Given the description of an element on the screen output the (x, y) to click on. 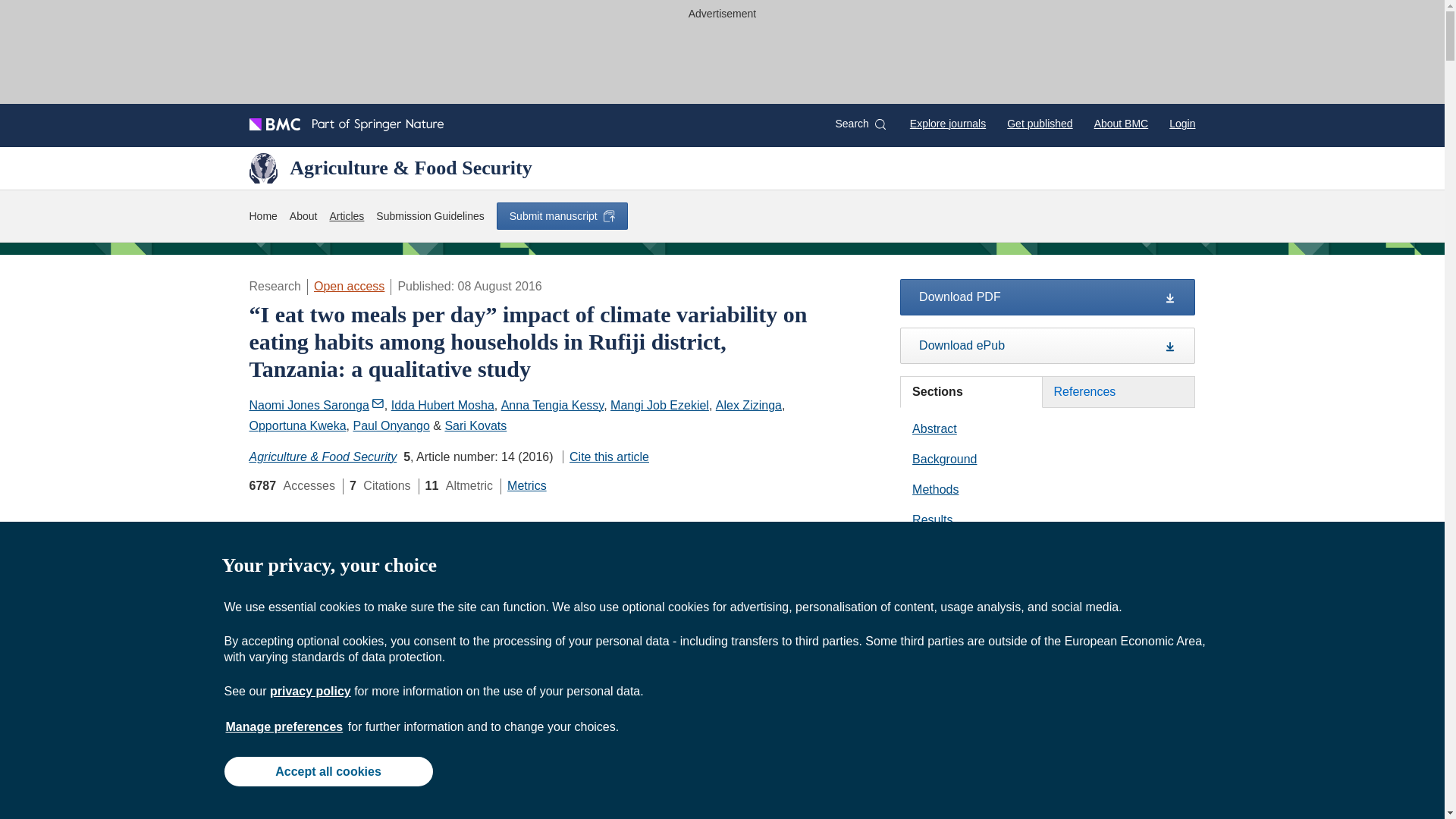
Articles (346, 216)
Paul Onyango (390, 425)
Accept all cookies (328, 771)
Login (1182, 123)
Naomi Jones Saronga (316, 404)
3rd party ad content (722, 59)
Submit manuscript (561, 216)
Get published (1039, 123)
Search (859, 123)
Alex Zizinga (748, 404)
Idda Hubert Mosha (443, 404)
Home (262, 216)
About BMC (1121, 123)
Opportuna Kweka (297, 425)
Open access (349, 286)
